Given the description of an element on the screen output the (x, y) to click on. 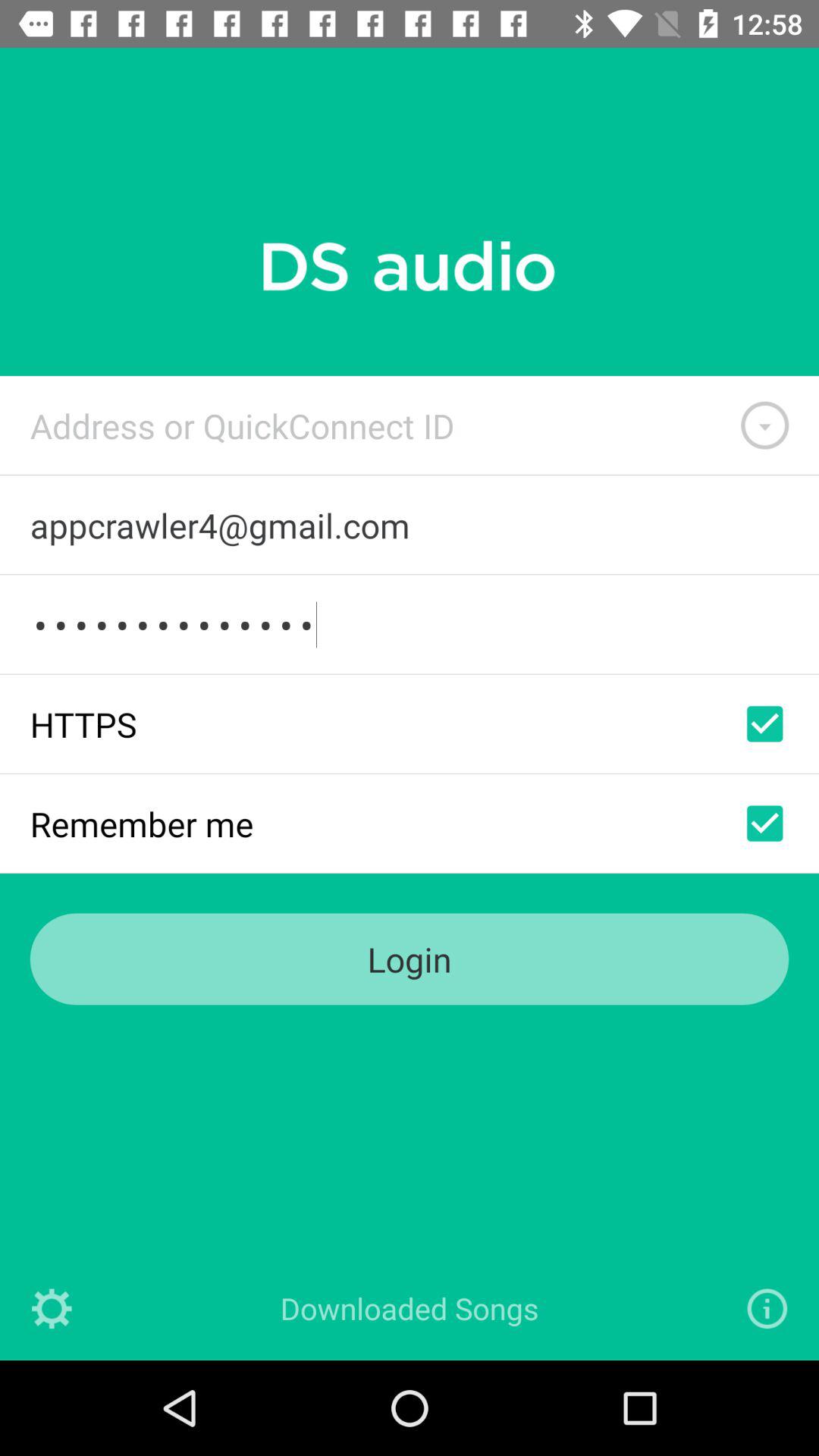
the information option (767, 1308)
